Given the description of an element on the screen output the (x, y) to click on. 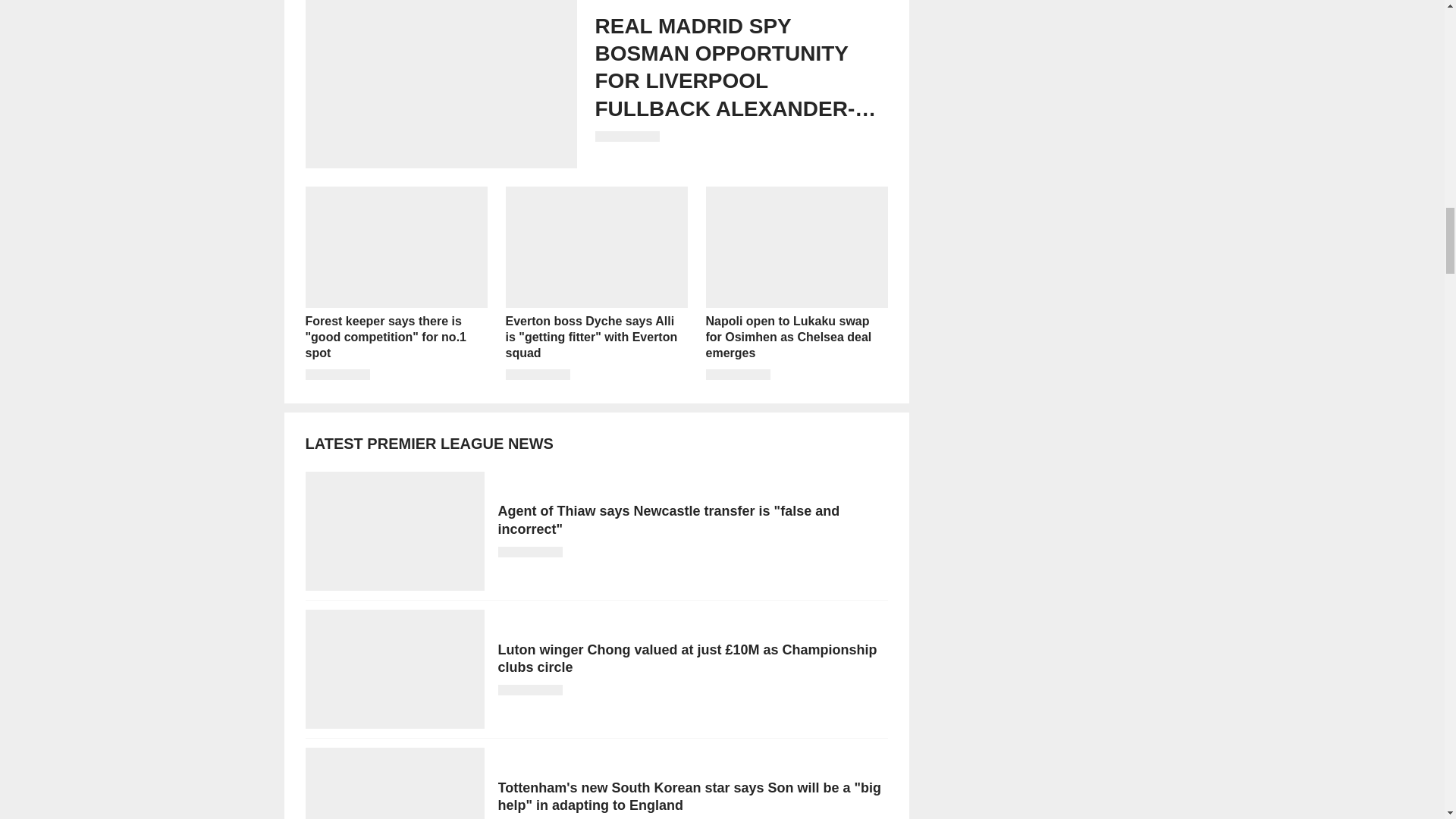
Forest keeper says there is "good competition" for no.1 spot (395, 283)
Forest keeper says there is "good competition" for no.1 spot (395, 283)
